Given the description of an element on the screen output the (x, y) to click on. 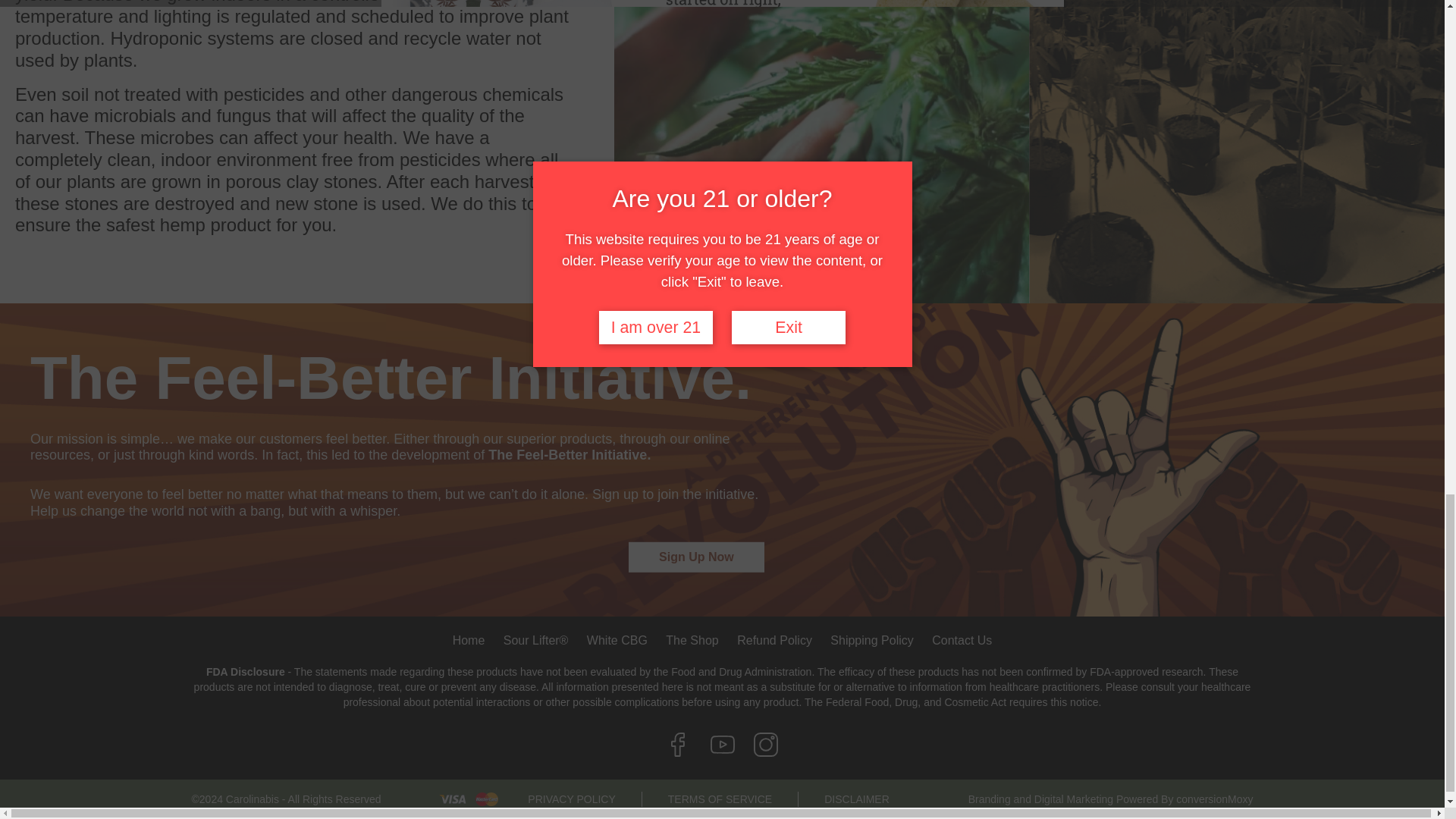
Shipping Policy (871, 640)
The Shop (691, 640)
Refund Policy (774, 640)
TERMS OF SERVICE (719, 798)
Home (469, 640)
Contact Us (961, 640)
Sign Up Now (696, 557)
White CBG (617, 640)
PRIVACY POLICY (572, 798)
